Given the description of an element on the screen output the (x, y) to click on. 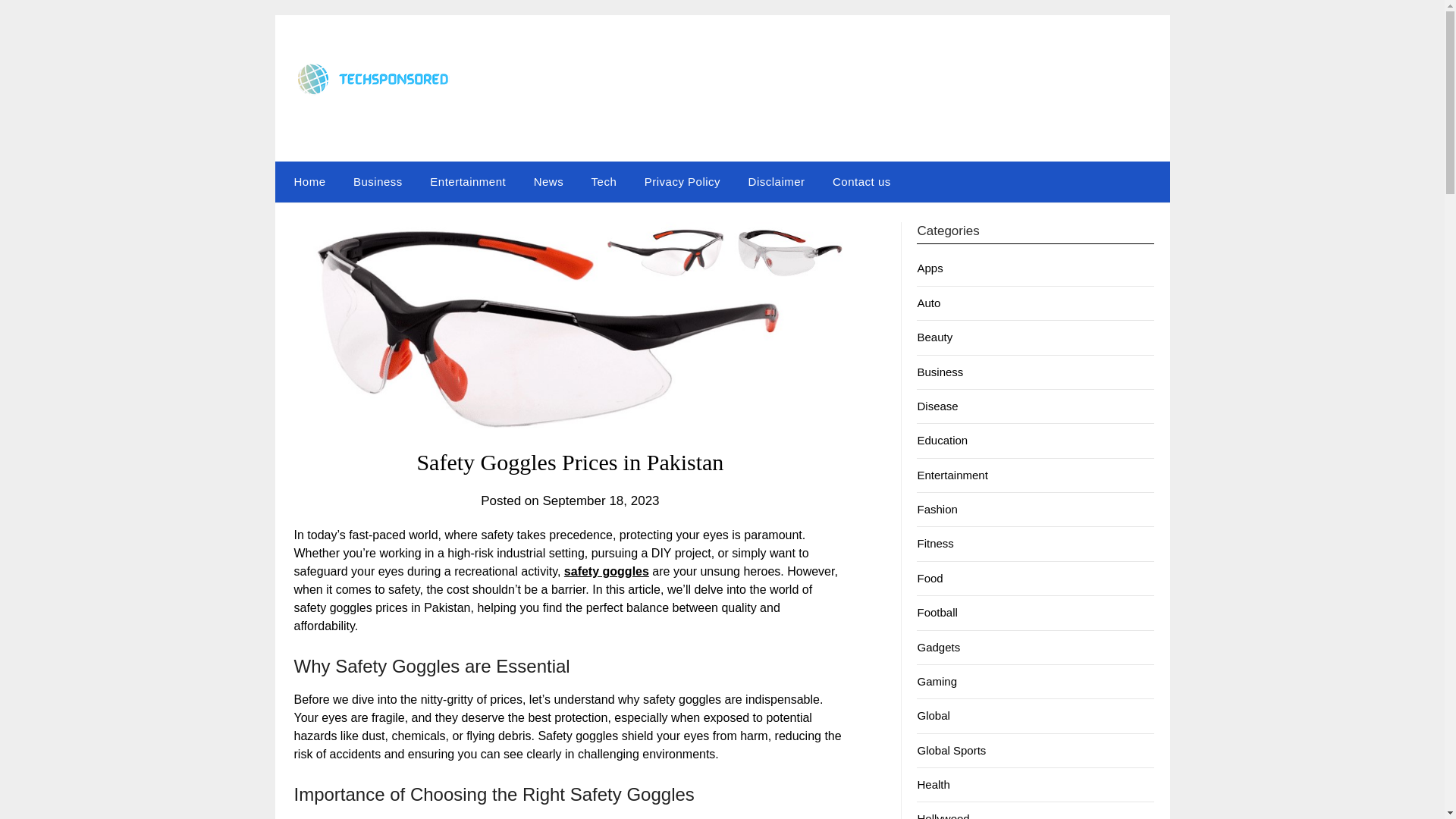
News (548, 181)
Privacy Policy (681, 181)
Contact us (861, 181)
Disease (937, 405)
Fitness (935, 543)
Entertainment (952, 474)
Home (306, 181)
Fashion (936, 508)
Football (936, 612)
Business (939, 371)
Auto (928, 302)
Food (929, 577)
Tech (603, 181)
safety goggles (606, 571)
Education (942, 440)
